Given the description of an element on the screen output the (x, y) to click on. 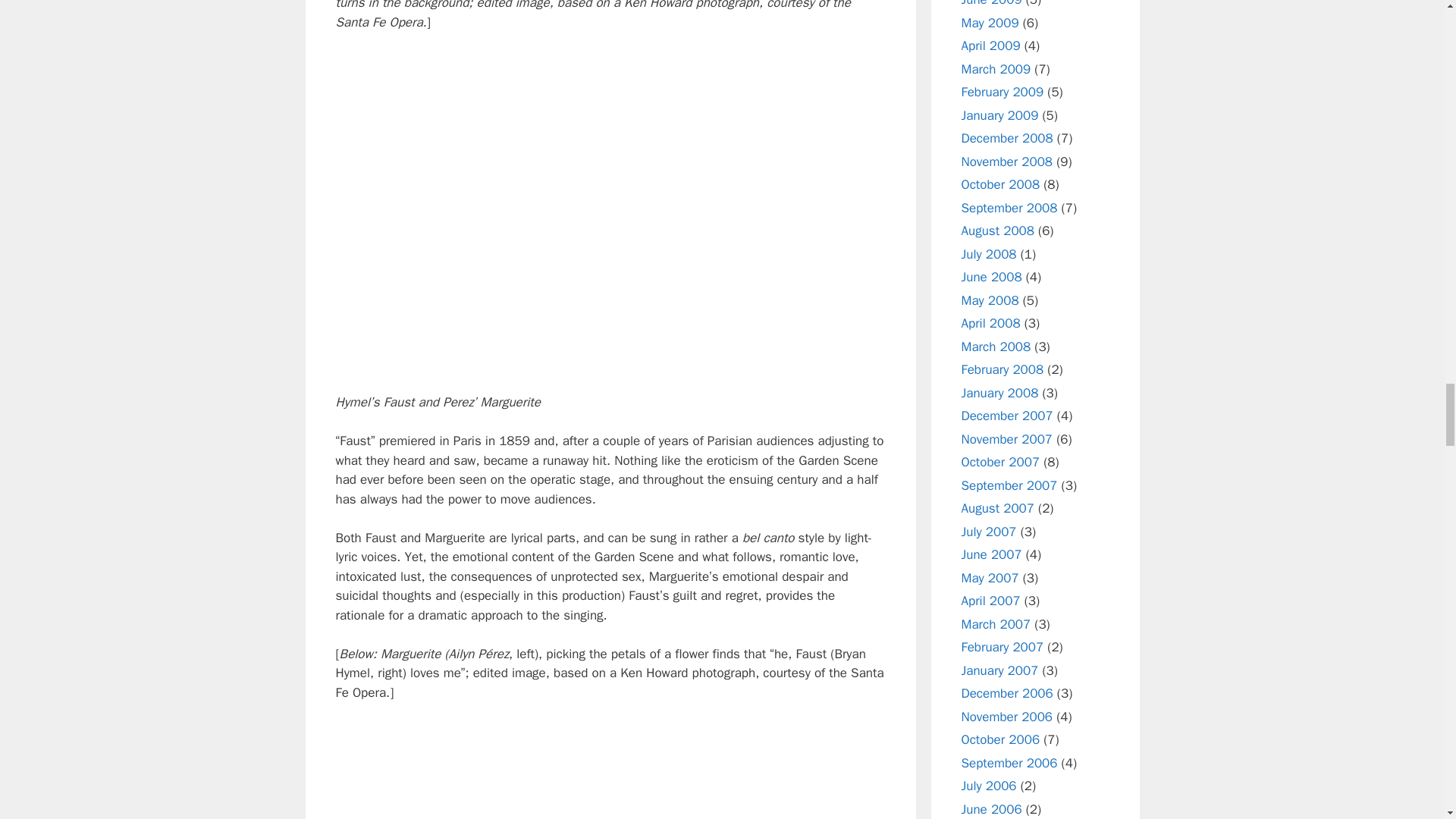
HYMEL-PEREZ (609, 770)
VEAU D'OR (609, 212)
